Given the description of an element on the screen output the (x, y) to click on. 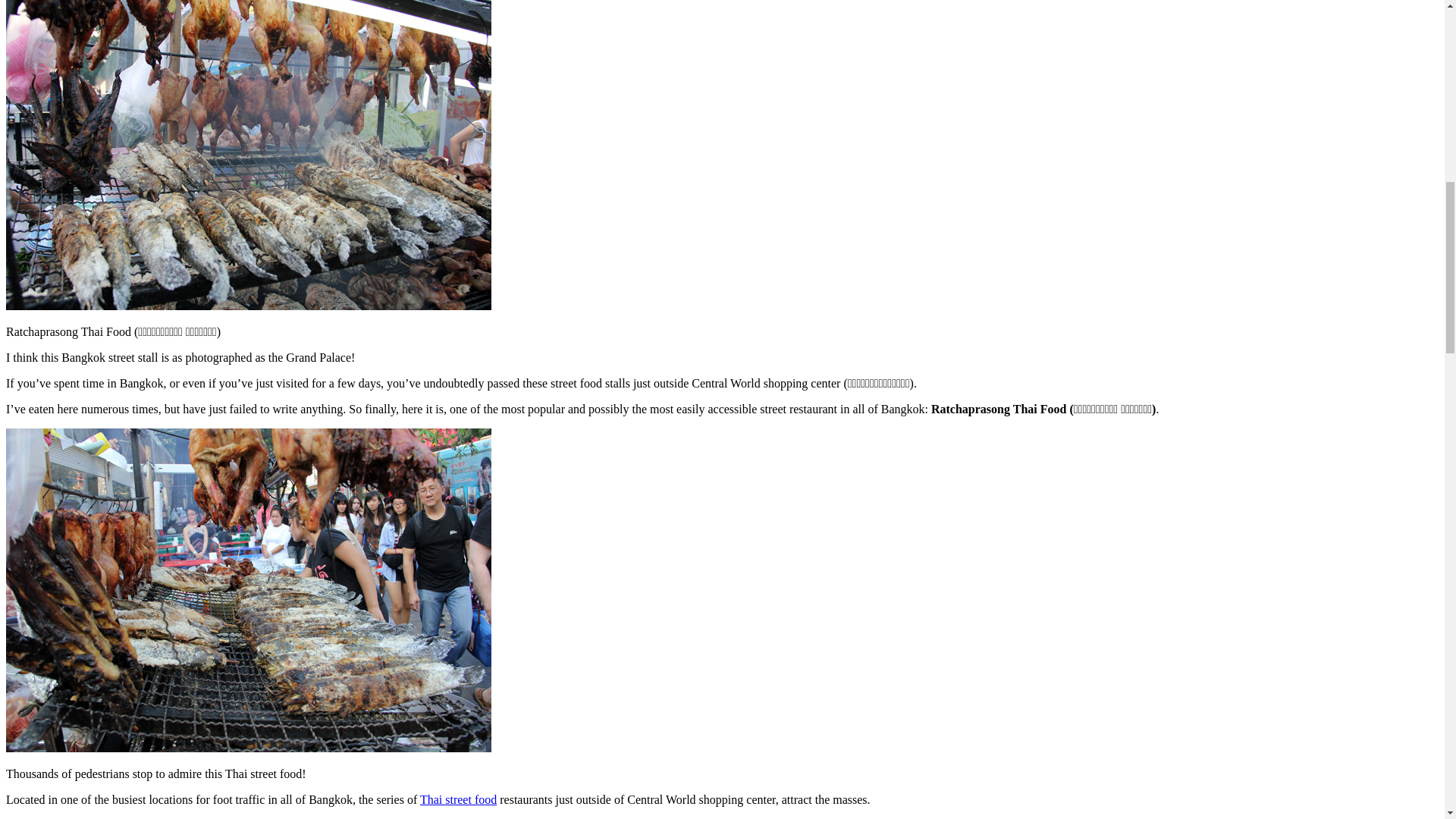
Thai street food guide (458, 799)
Thai street food (458, 799)
